Given the description of an element on the screen output the (x, y) to click on. 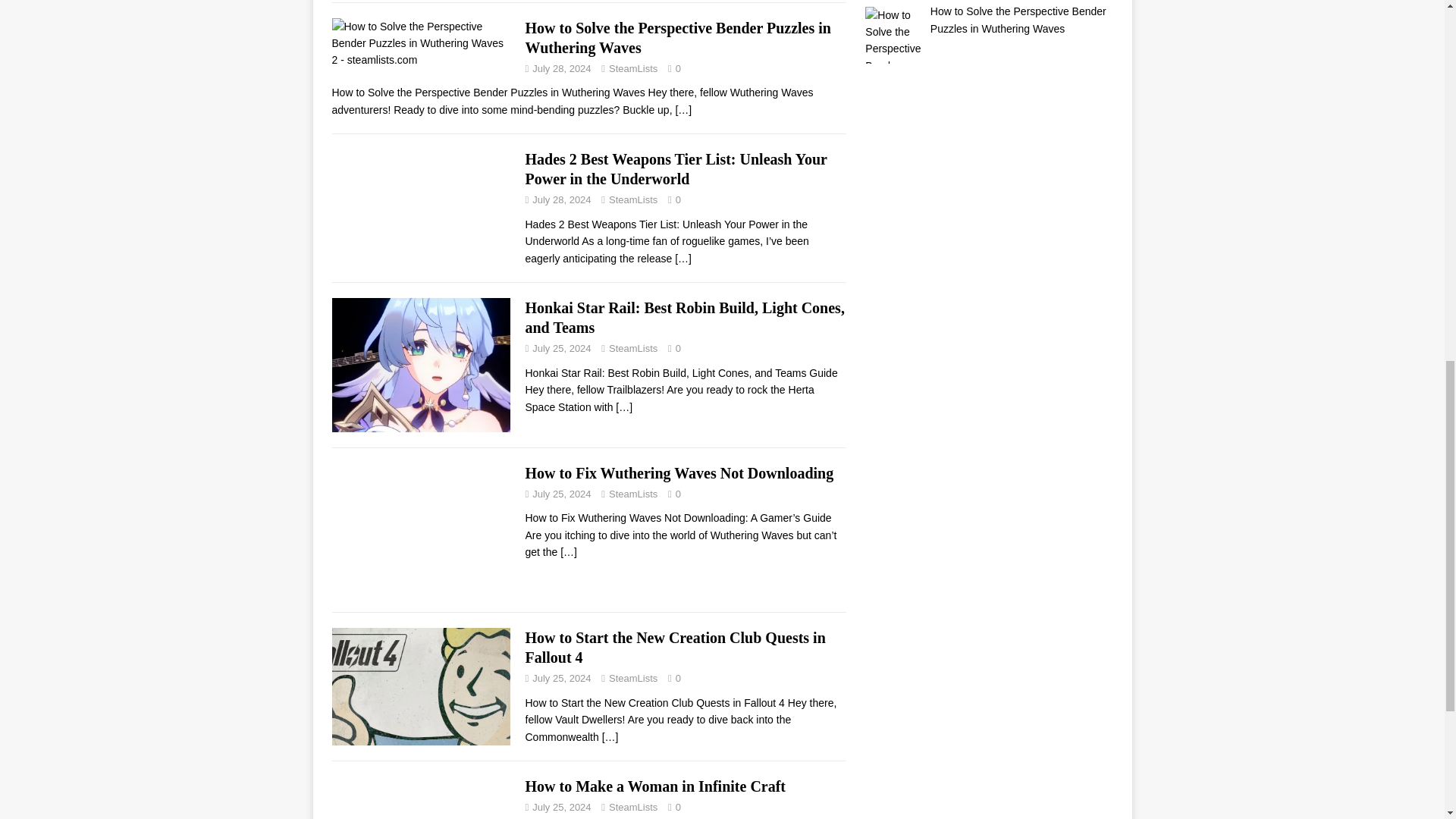
SteamLists (633, 199)
How to Fix Wuthering Waves Not Downloading (568, 551)
Honkai Star Rail: Best Robin Build, Light Cones, and Teams (684, 317)
How to Fix Wuthering Waves Not Downloading 8 (421, 530)
SteamLists (633, 67)
